Given the description of an element on the screen output the (x, y) to click on. 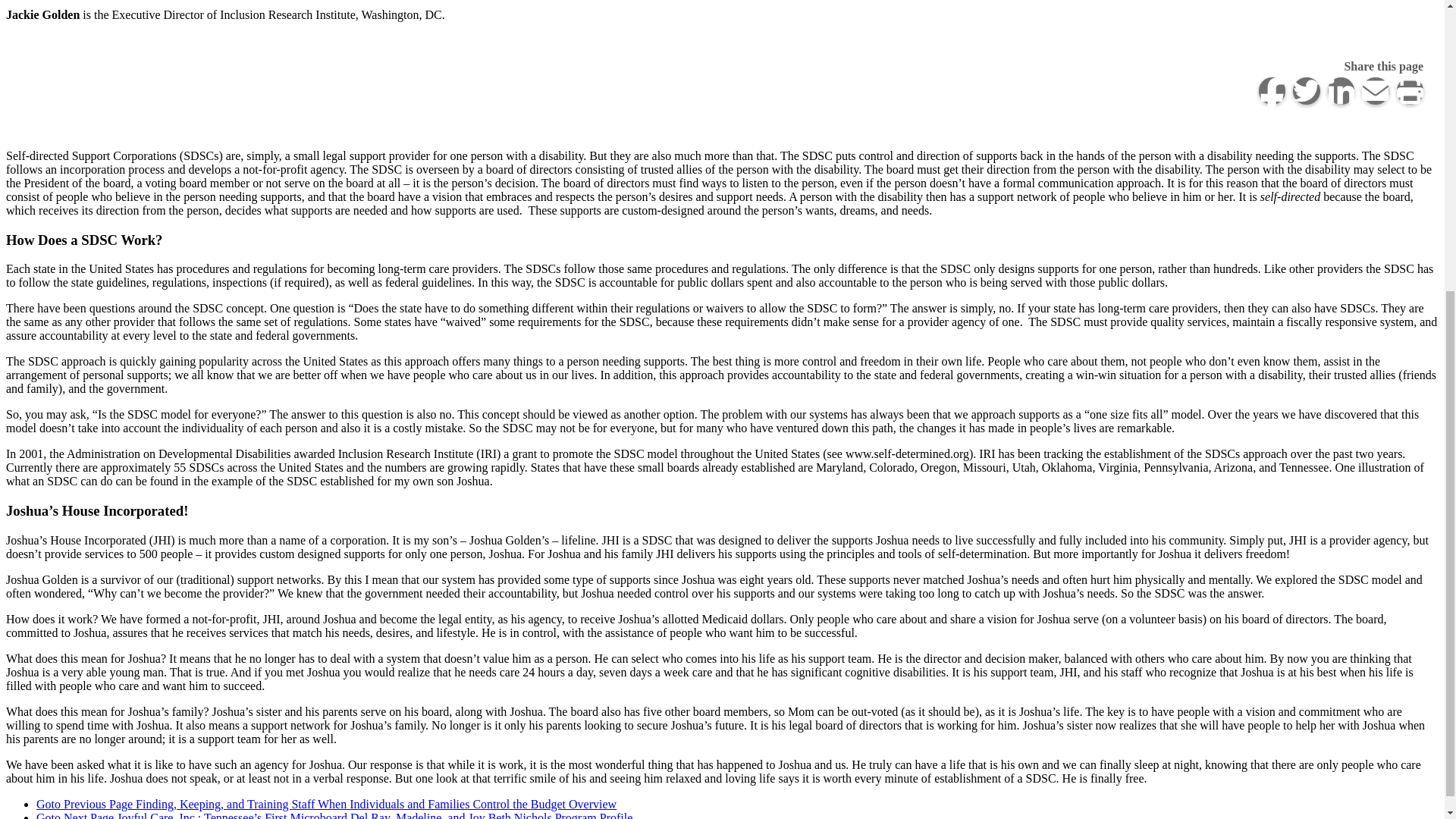
Share this page on Twitter. (1306, 90)
Print this page. (1409, 90)
Share this page via email. (1375, 90)
Share this page on Facebook. (1272, 90)
Share this page on LinkedIn. (1340, 90)
